Given the description of an element on the screen output the (x, y) to click on. 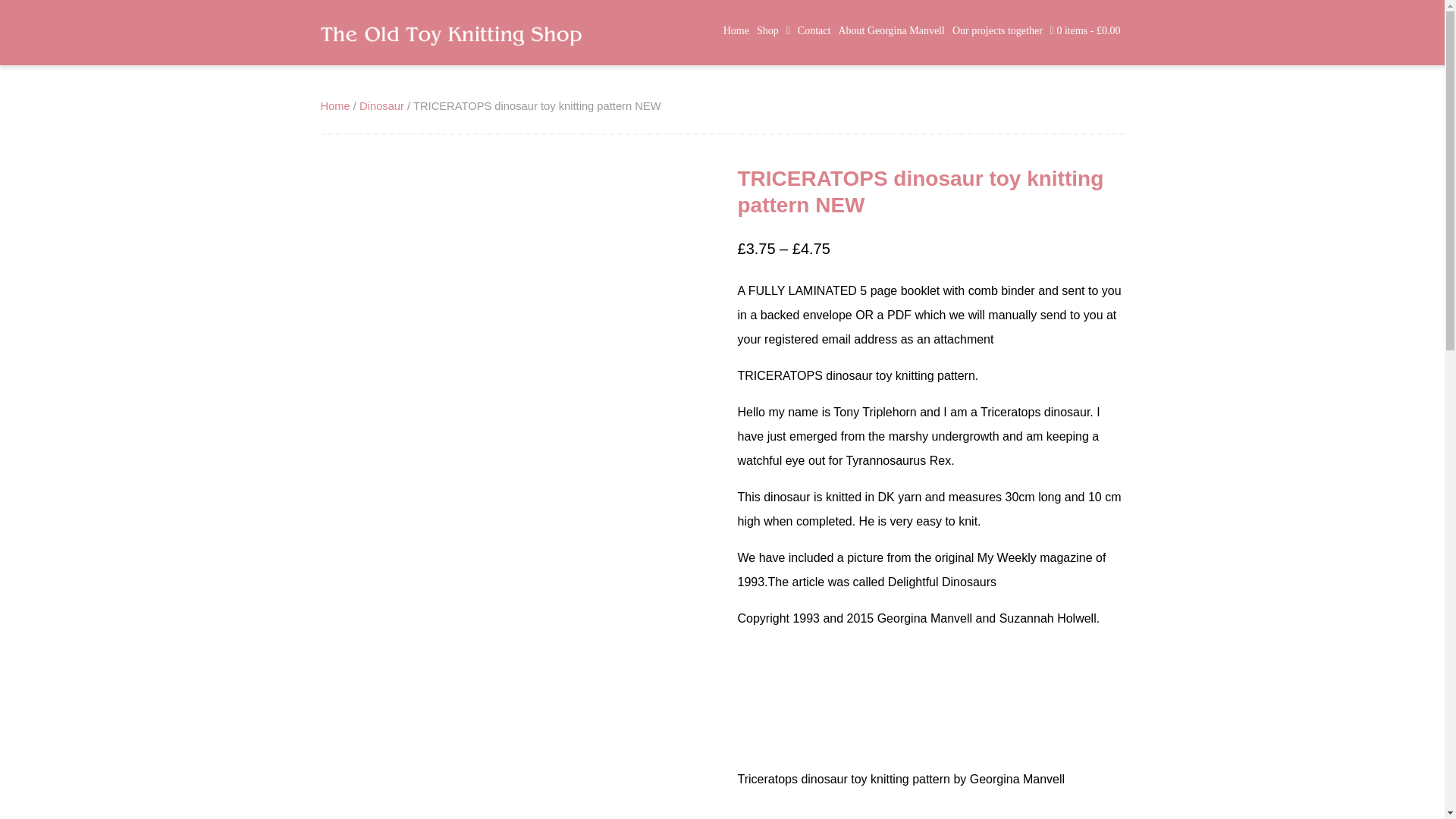
Dinosaur (381, 105)
About Georgina Manvell (891, 30)
Our projects together (997, 30)
Home (334, 105)
Home (736, 30)
Start shopping (1085, 30)
Shop (773, 32)
Contact (814, 30)
